Given the description of an element on the screen output the (x, y) to click on. 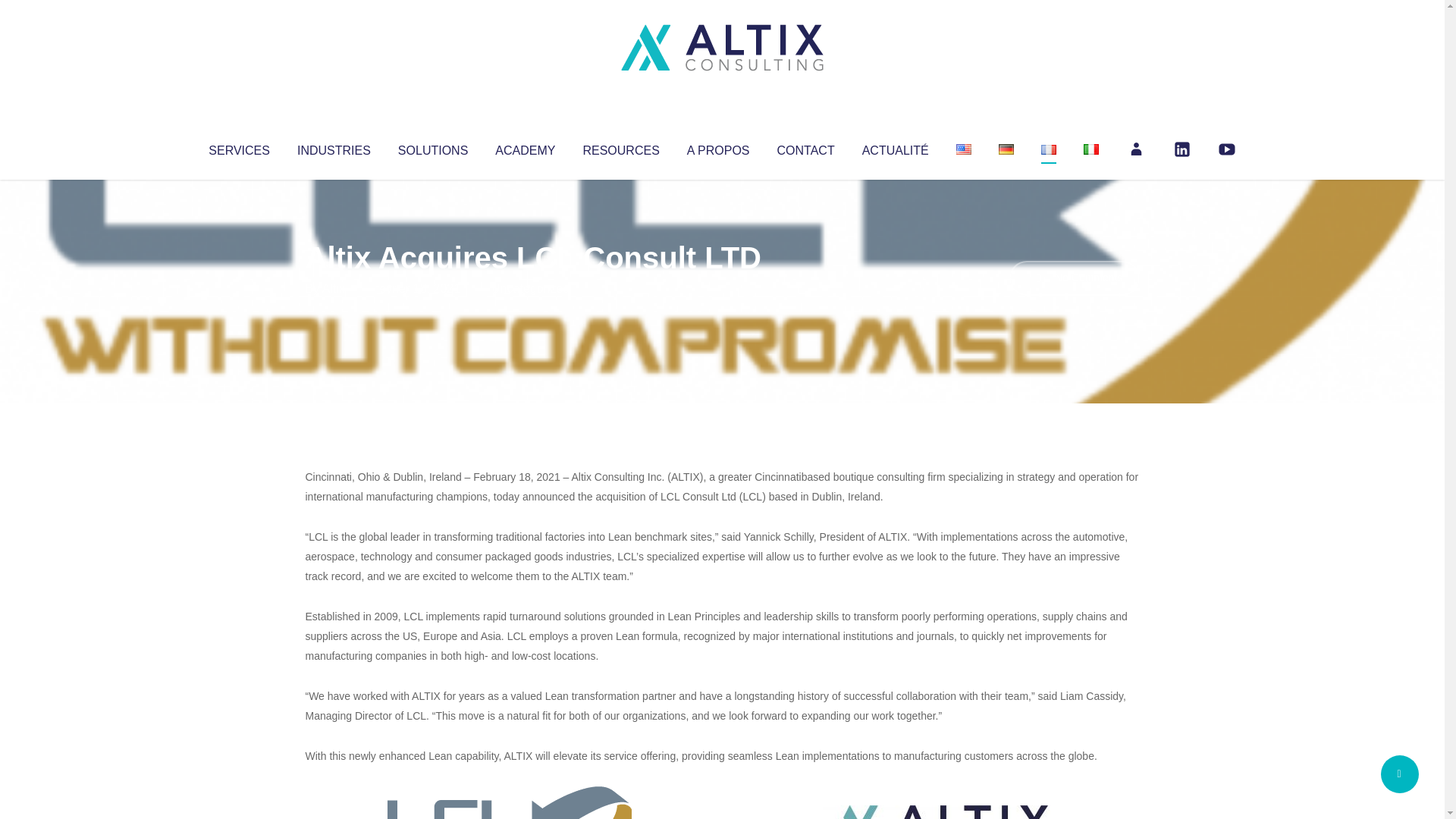
RESOURCES (620, 146)
Articles par Altix (333, 287)
SOLUTIONS (432, 146)
INDUSTRIES (334, 146)
No Comments (1073, 278)
A PROPOS (718, 146)
Uncategorized (530, 287)
ACADEMY (524, 146)
SERVICES (238, 146)
Altix (333, 287)
